Given the description of an element on the screen output the (x, y) to click on. 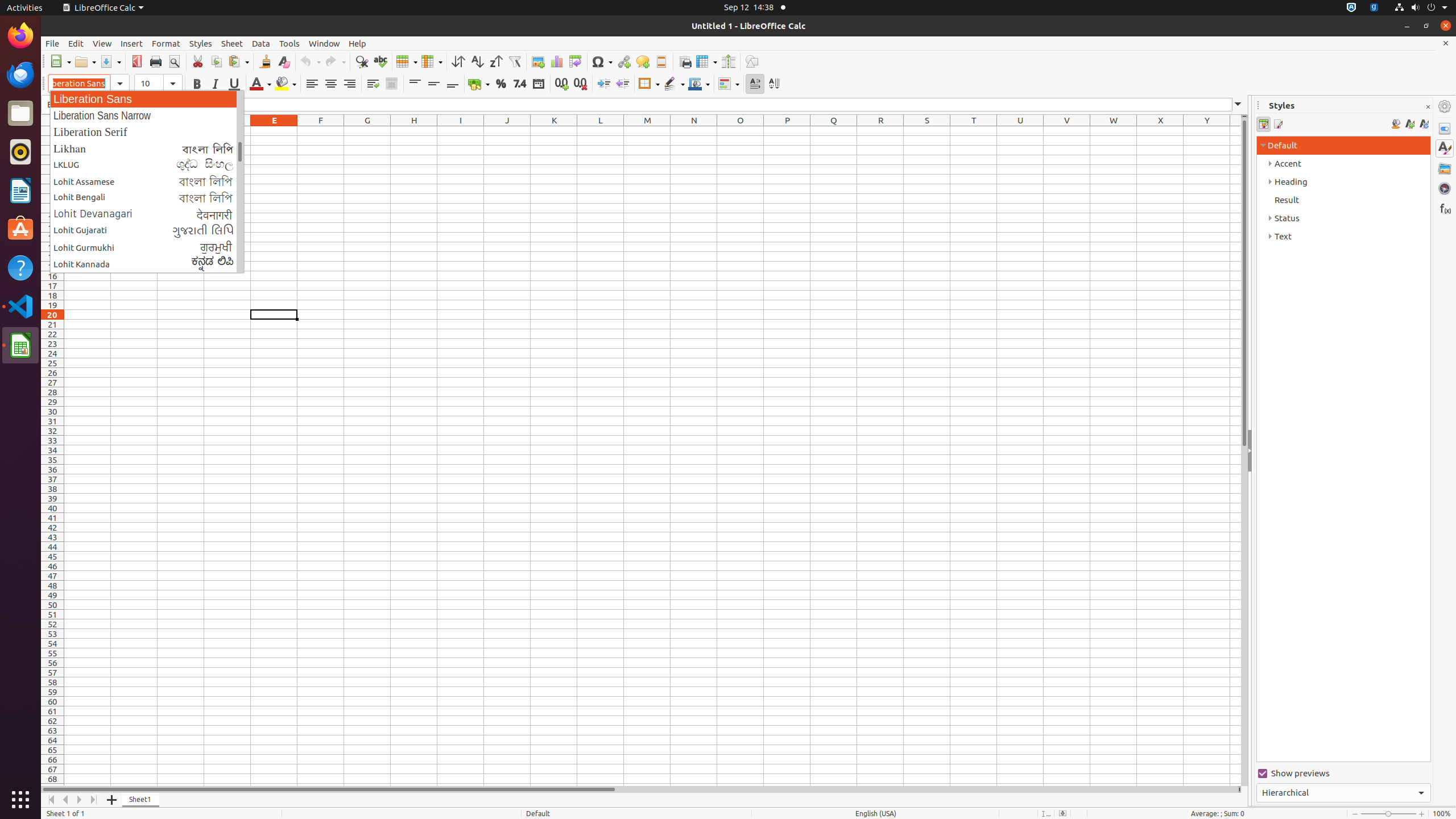
Align Right Element type: push-button (349, 83)
Merge and Center Cells Element type: push-button (391, 83)
Move To Home Element type: push-button (51, 799)
Vertical scroll bar Element type: scroll-bar (1244, 451)
AutoFilter Element type: push-button (514, 61)
